Given the description of an element on the screen output the (x, y) to click on. 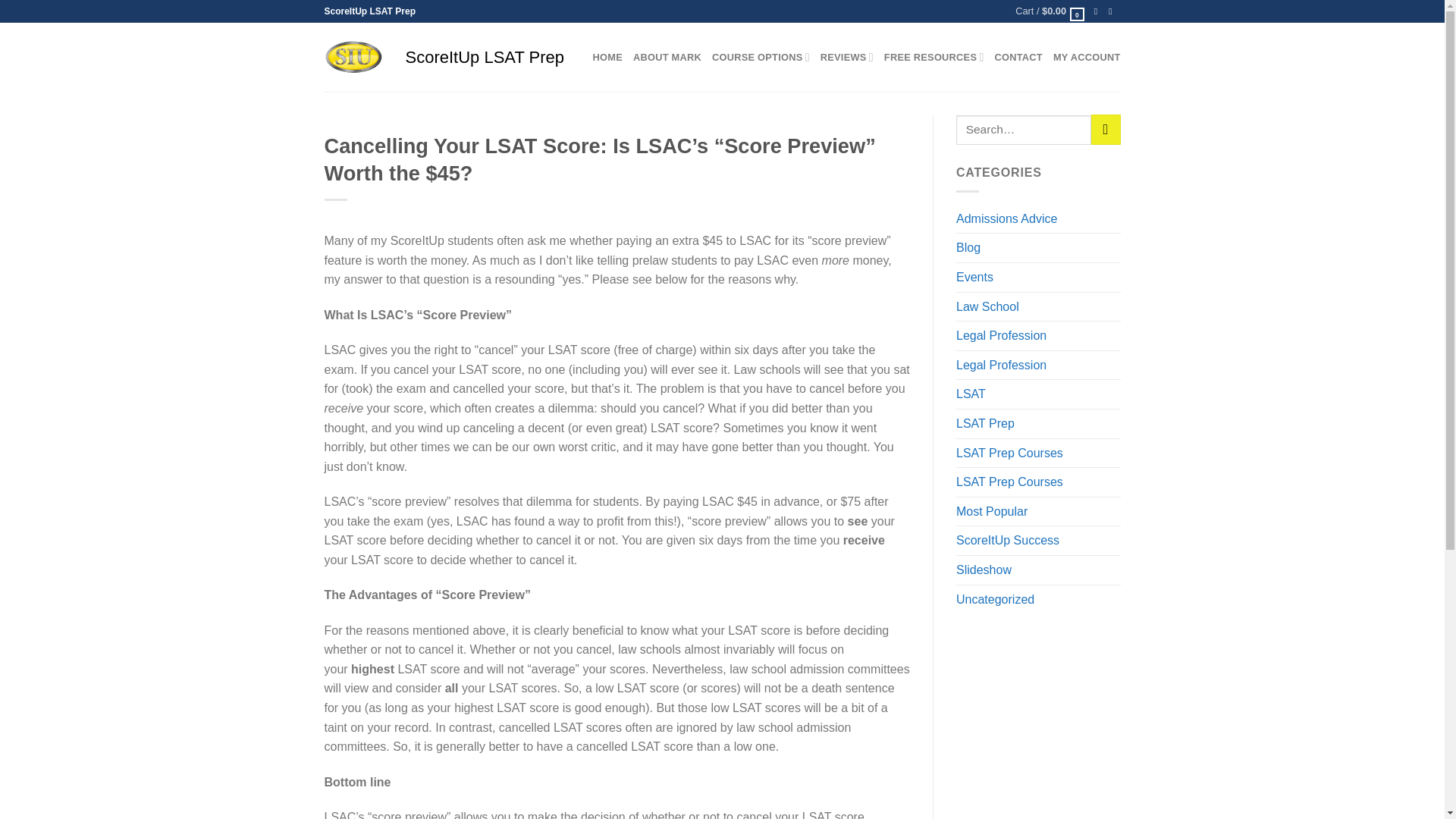
Events (974, 276)
HOME (607, 57)
COURSE OPTIONS (760, 57)
MY ACCOUNT (1086, 57)
ABOUT MARK (667, 57)
Legal Profession (1001, 335)
Law School (987, 306)
REVIEWS (847, 57)
Admissions Advice (1006, 218)
Legal Profession (1001, 365)
